Given the description of an element on the screen output the (x, y) to click on. 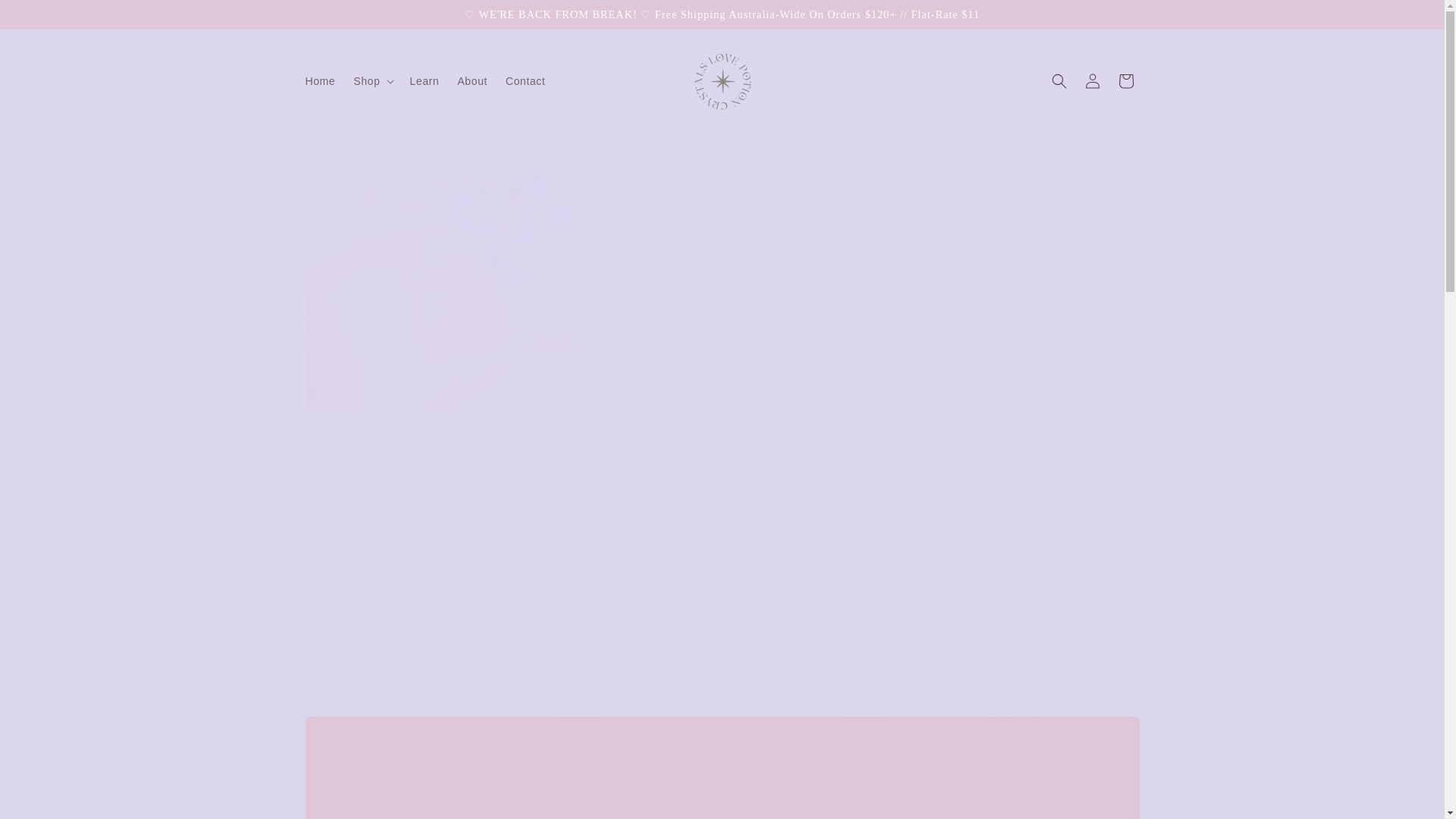
0 (1004, 600)
0 (722, 600)
0 (438, 600)
Skip to content (45, 17)
